Given the description of an element on the screen output the (x, y) to click on. 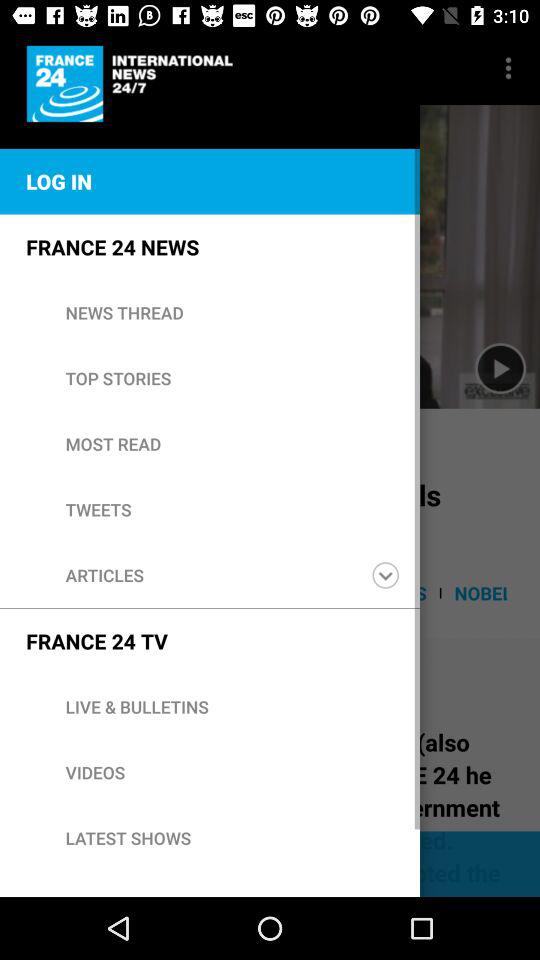
click on the 3 vertical dots below 310 (508, 68)
